Given the description of an element on the screen output the (x, y) to click on. 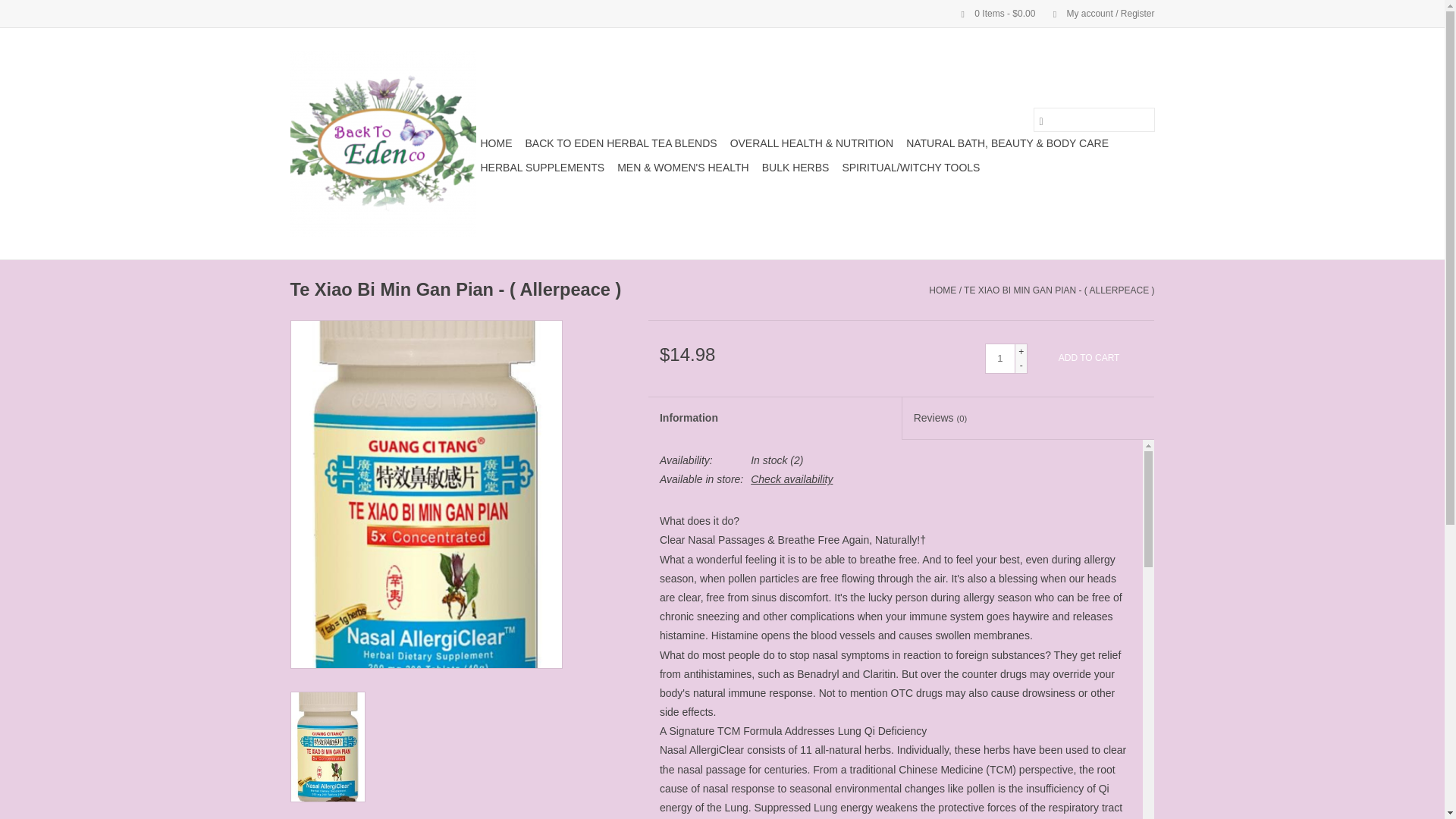
1 (999, 358)
Cart (992, 13)
Back To Eden CO (382, 143)
Back to Eden Herbal Tea Blends (619, 143)
HOME (496, 143)
My account (1096, 13)
BACK TO EDEN HERBAL TEA BLENDS (619, 143)
